Given the description of an element on the screen output the (x, y) to click on. 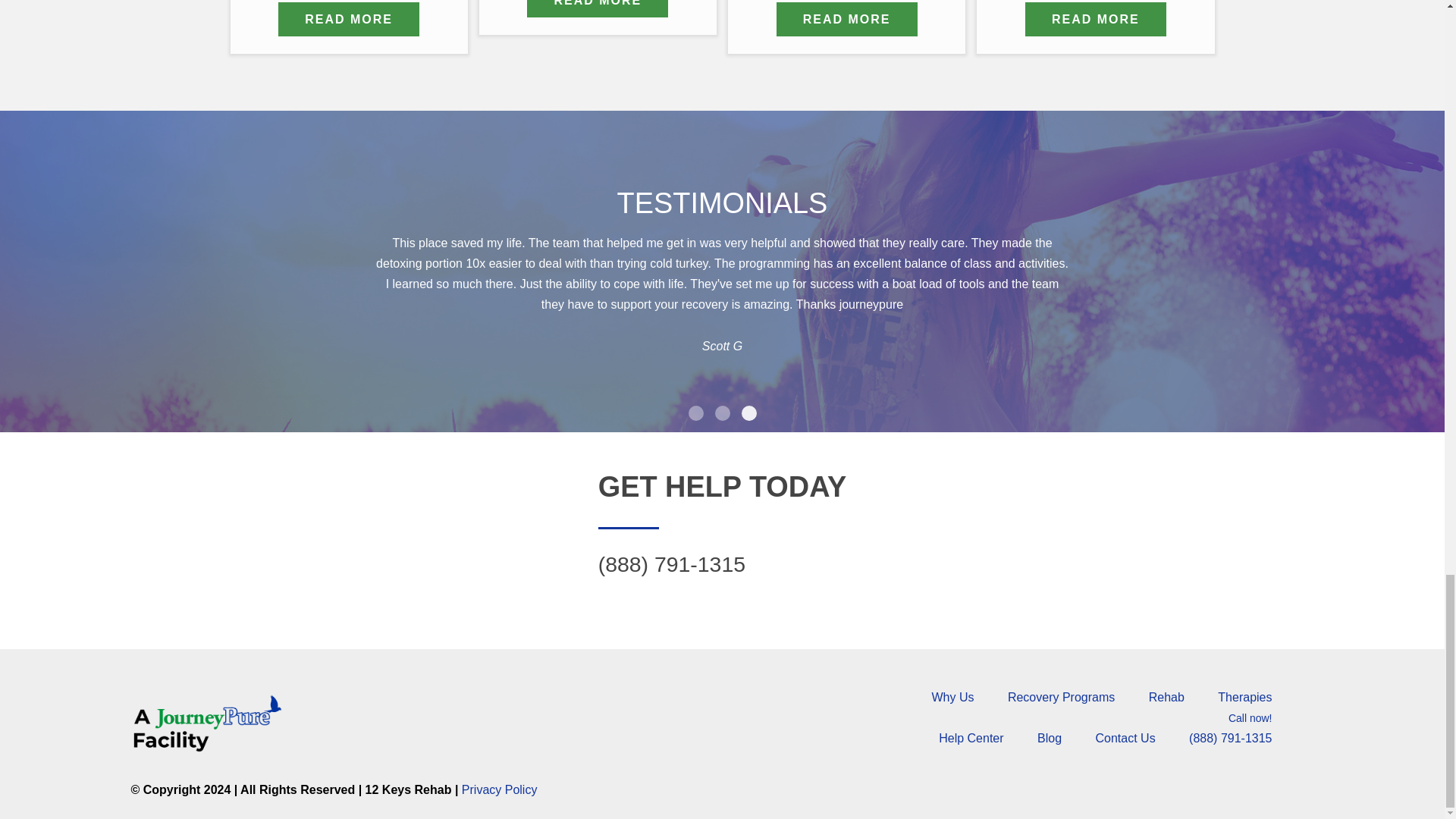
Entering alcohol rehab: Have I made the right choice? (597, 8)
